Given the description of an element on the screen output the (x, y) to click on. 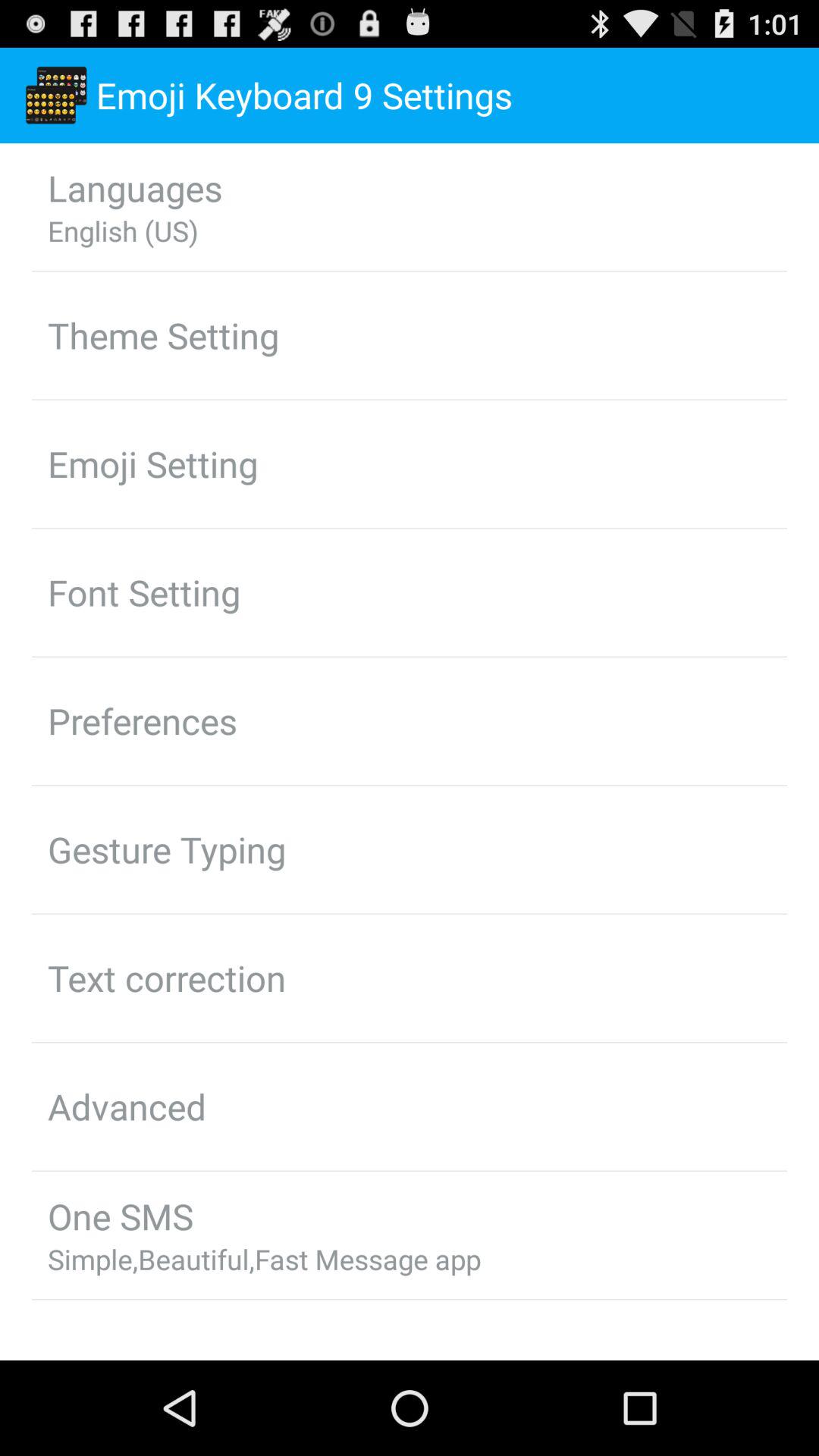
jump until the text correction app (166, 977)
